Given the description of an element on the screen output the (x, y) to click on. 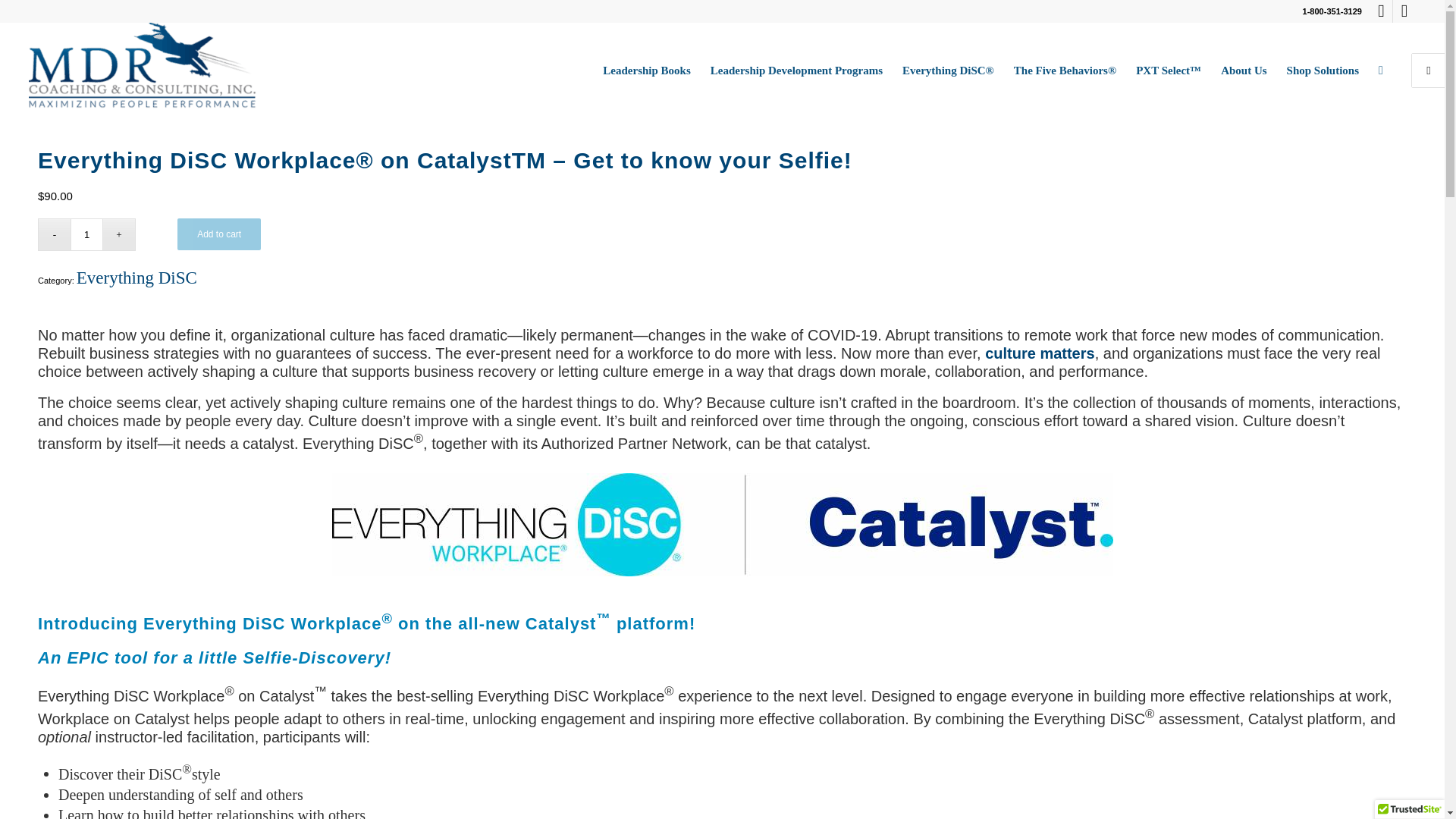
Leadership Books (646, 69)
Shop Solutions (1322, 69)
1 (86, 234)
LinkedIn (1380, 11)
About Us (1243, 69)
- (53, 234)
Facebook (1404, 11)
Leadership Development Programs (796, 69)
